Given the description of an element on the screen output the (x, y) to click on. 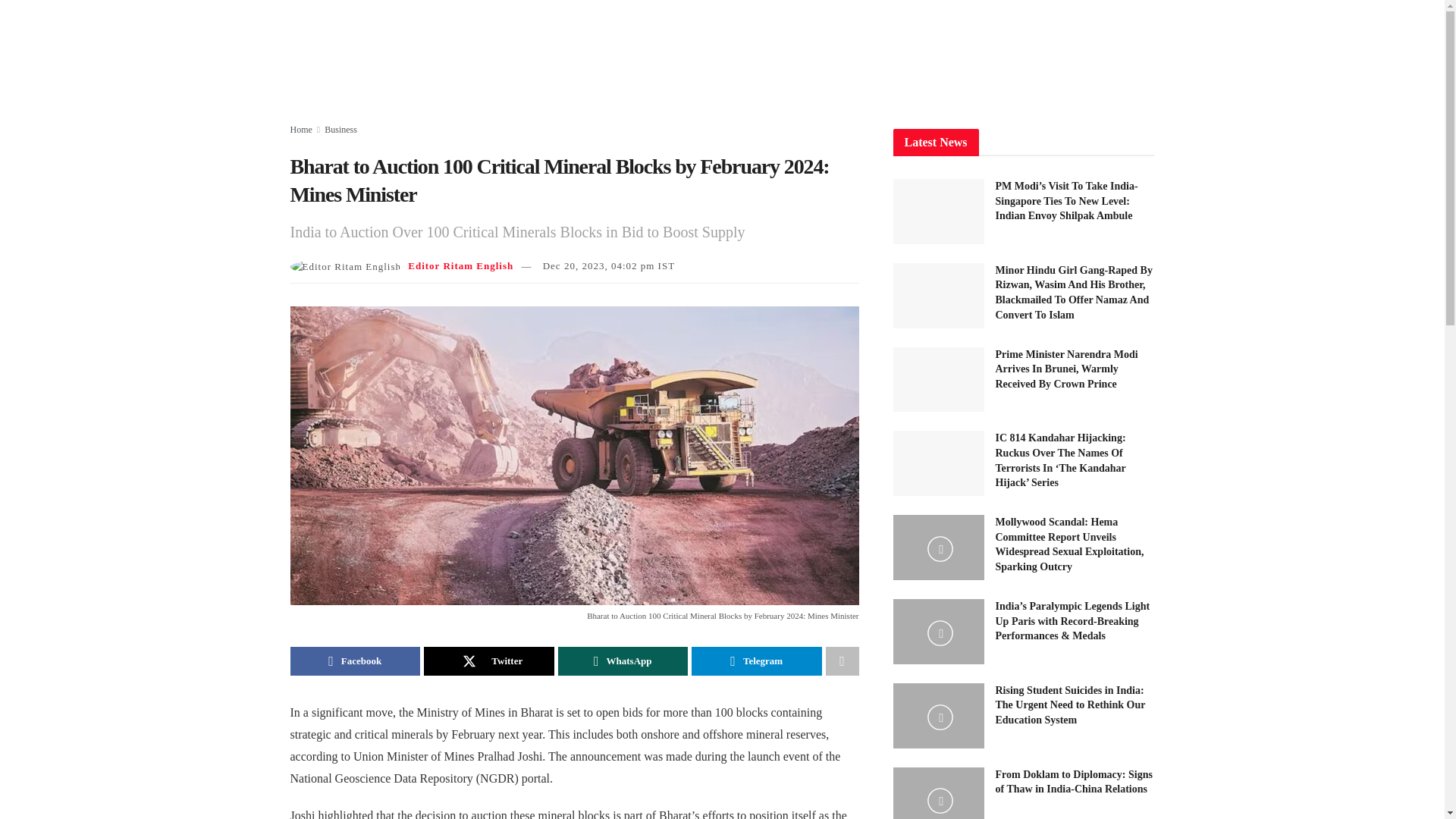
LIFESTYLE (943, 53)
POLITICS (788, 53)
NATION (586, 53)
BUSINESS (862, 53)
WORLD (650, 53)
SPORTS (1019, 53)
HOME (525, 53)
VIDEOS (716, 53)
OPINION (1086, 53)
